Given the description of an element on the screen output the (x, y) to click on. 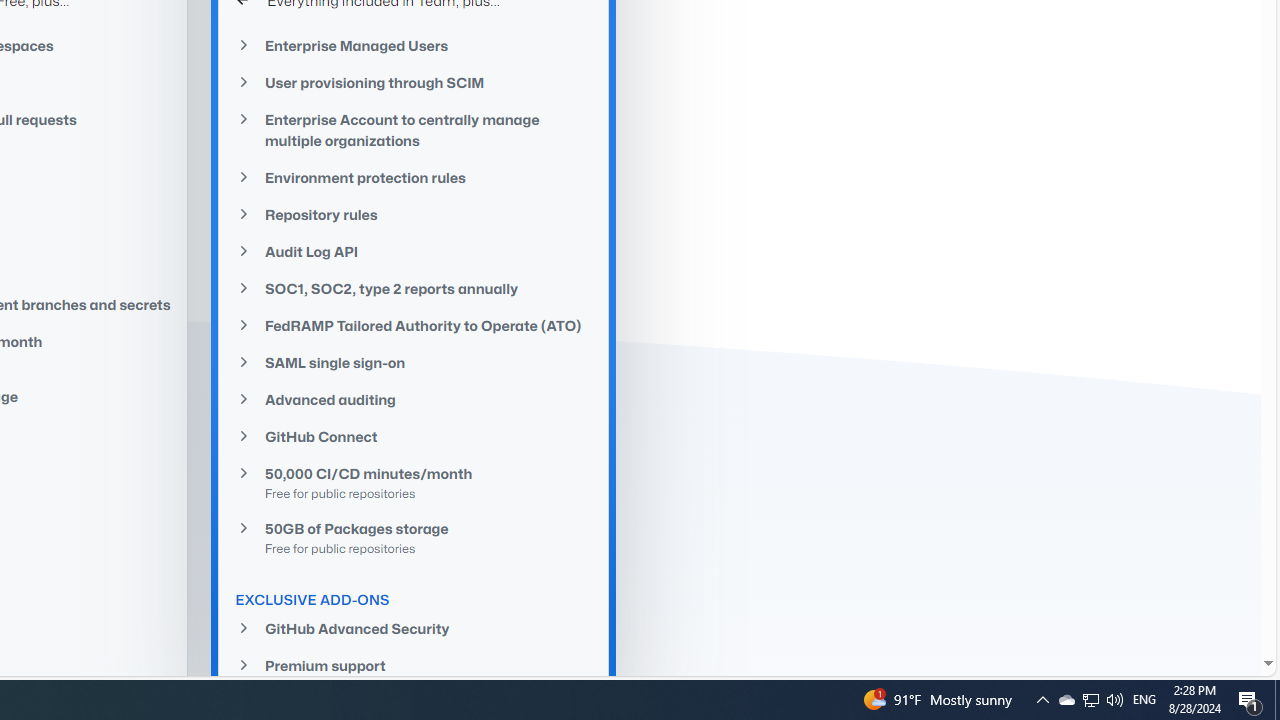
Environment protection rules (413, 177)
FedRAMP Tailored Authority to Operate (ATO) (413, 325)
50,000 CI/CD minutes/monthFree for public repositories (413, 482)
FedRAMP Tailored Authority to Operate (ATO) (413, 325)
Environment protection rules (413, 178)
GitHub Connect (413, 435)
User provisioning through SCIM (413, 83)
Premium support (413, 665)
50,000 CI/CD minutes/month Free for public repositories (413, 483)
Audit Log API (413, 250)
GitHub Advanced Security (413, 628)
Enterprise Managed Users (413, 44)
Enterprise Managed Users (413, 45)
Repository rules (413, 214)
